Given the description of an element on the screen output the (x, y) to click on. 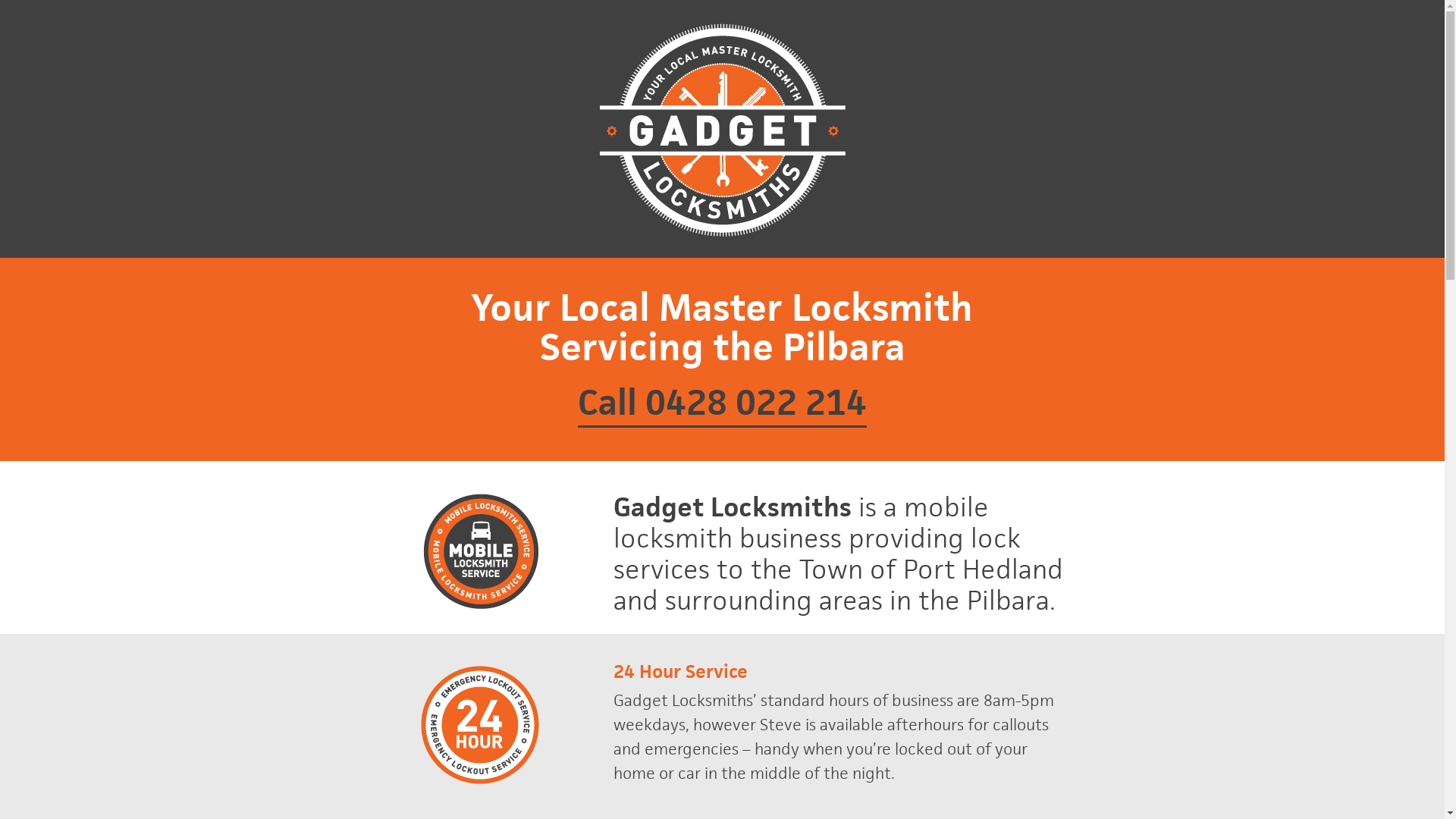
Gadget Locksmiths Home Element type: hover (722, 127)
Reset Fields Element type: text (39, 12)
Call 0428 022 214 Element type: text (721, 403)
